Given the description of an element on the screen output the (x, y) to click on. 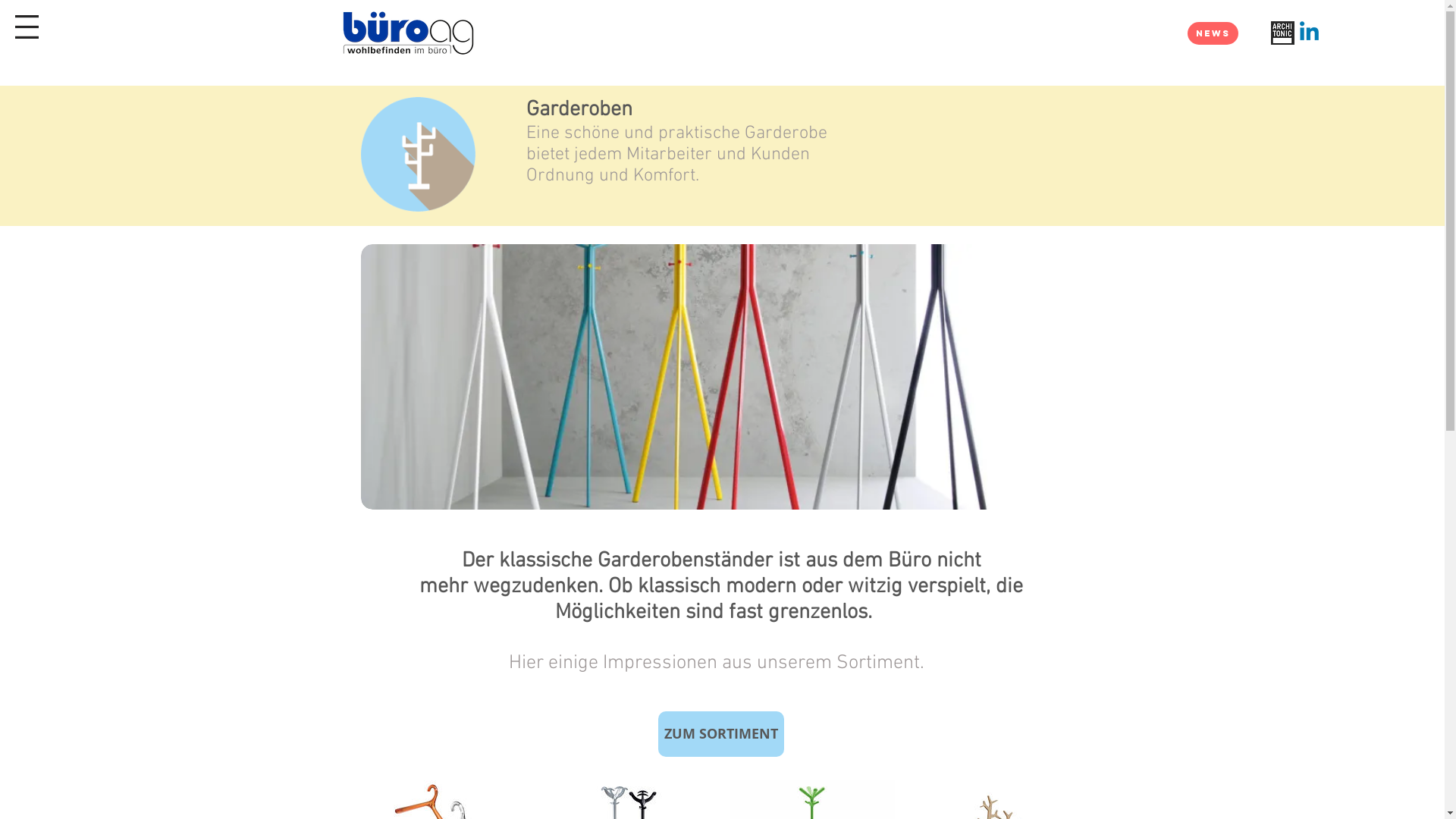
Sortiment Element type: text (877, 662)
ZUM SORTIMENT Element type: text (721, 733)
NEWS Element type: text (1212, 32)
Icon_Moebel_Garderoben_blau.gif Element type: hover (417, 154)
